Given the description of an element on the screen output the (x, y) to click on. 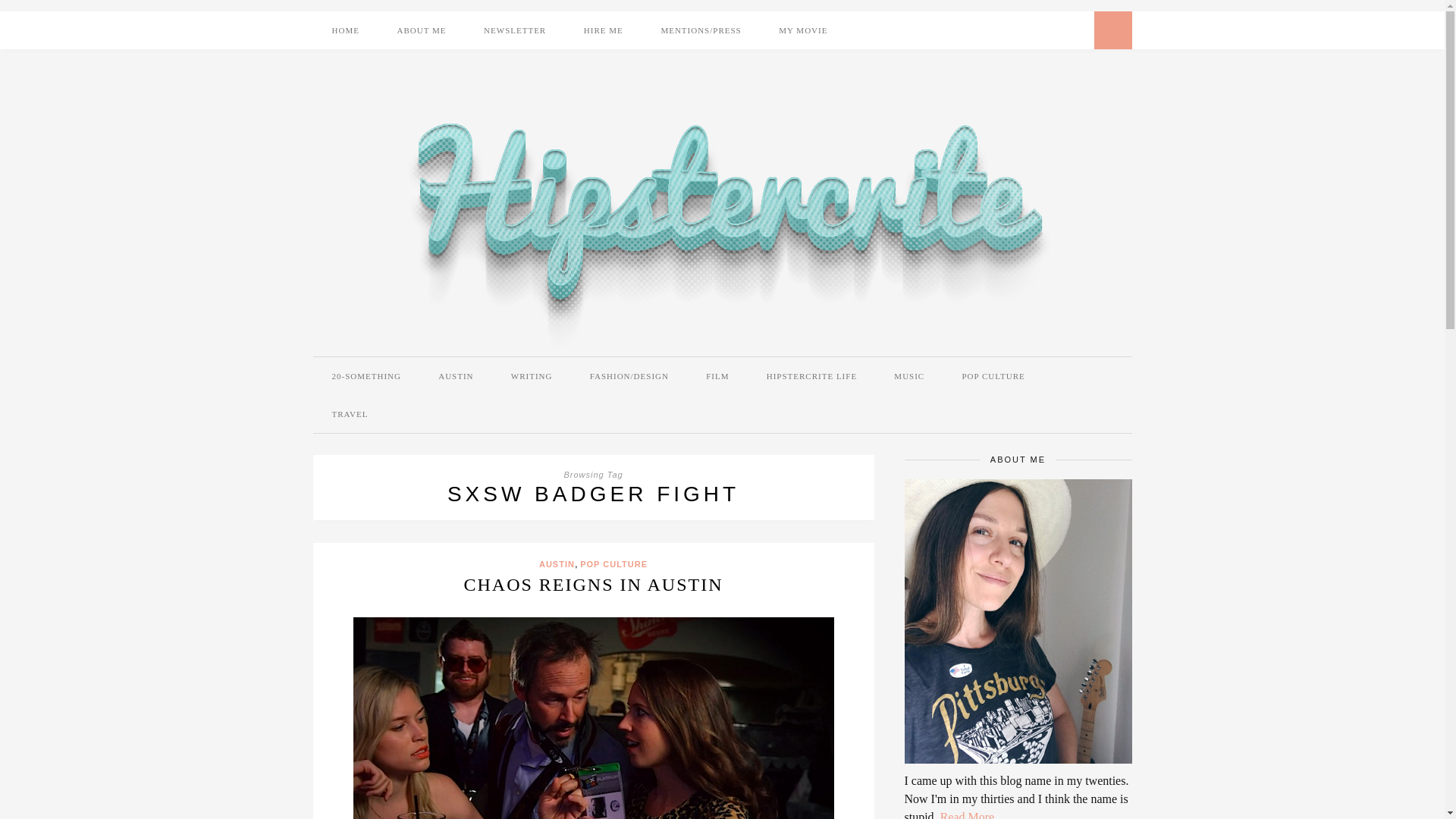
WRITING (532, 375)
CHAOS REIGNS IN AUSTIN (592, 584)
badgers (593, 718)
POP CULTURE (992, 375)
HIRE ME (603, 30)
ABOUT ME (421, 30)
AUSTIN (556, 563)
TRAVEL (349, 413)
POP CULTURE (613, 563)
20-SOMETHING (366, 375)
AUSTIN (455, 375)
MY MOVIE (802, 30)
HIPSTERCRITE LIFE (812, 375)
NEWSLETTER (514, 30)
